Given the description of an element on the screen output the (x, y) to click on. 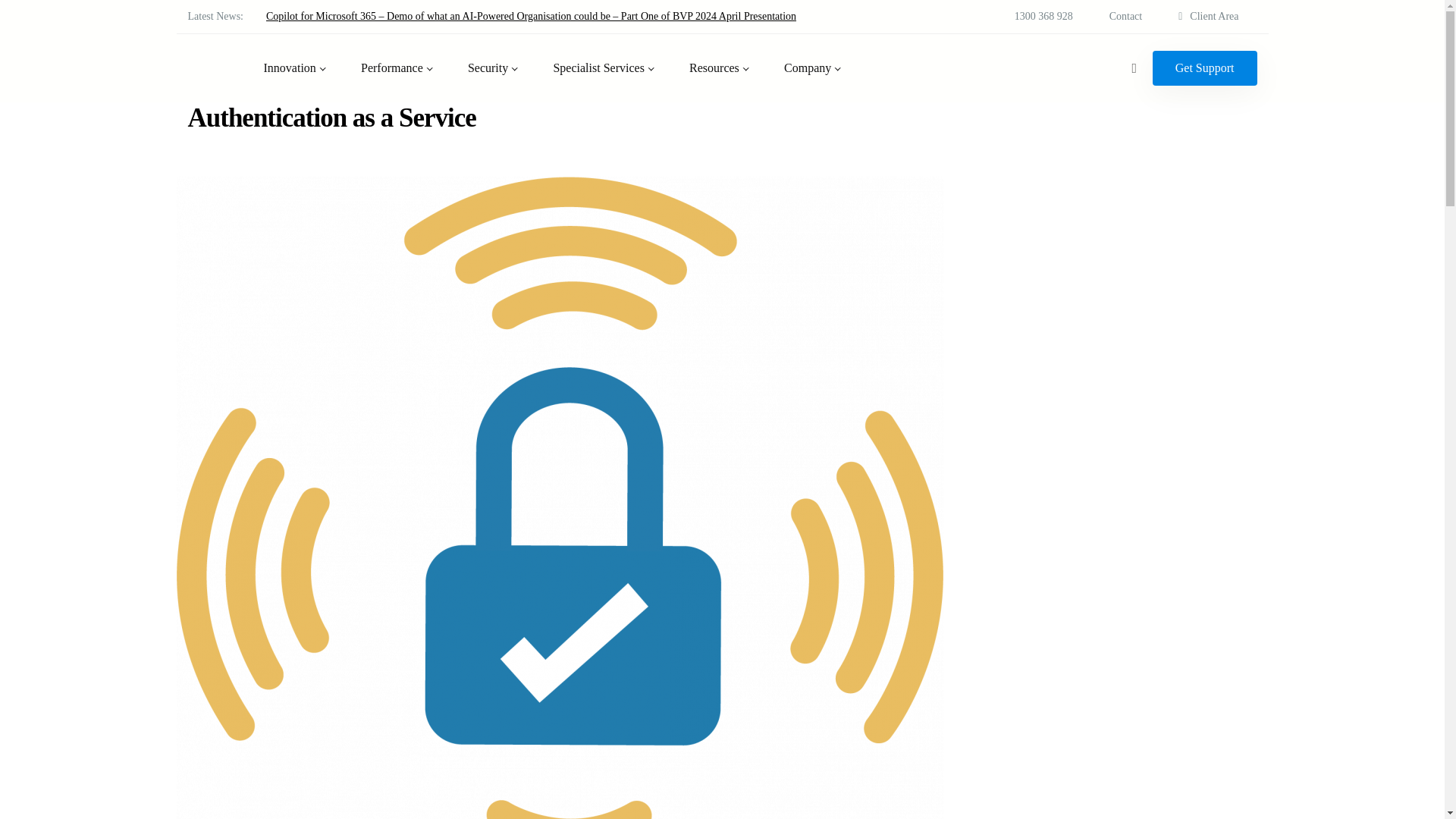
Security (493, 68)
Client Area (1208, 16)
Contact (1125, 16)
1300 368 928 (1042, 16)
Performance (398, 68)
Innovation (296, 68)
Specialist Services (604, 68)
